Given the description of an element on the screen output the (x, y) to click on. 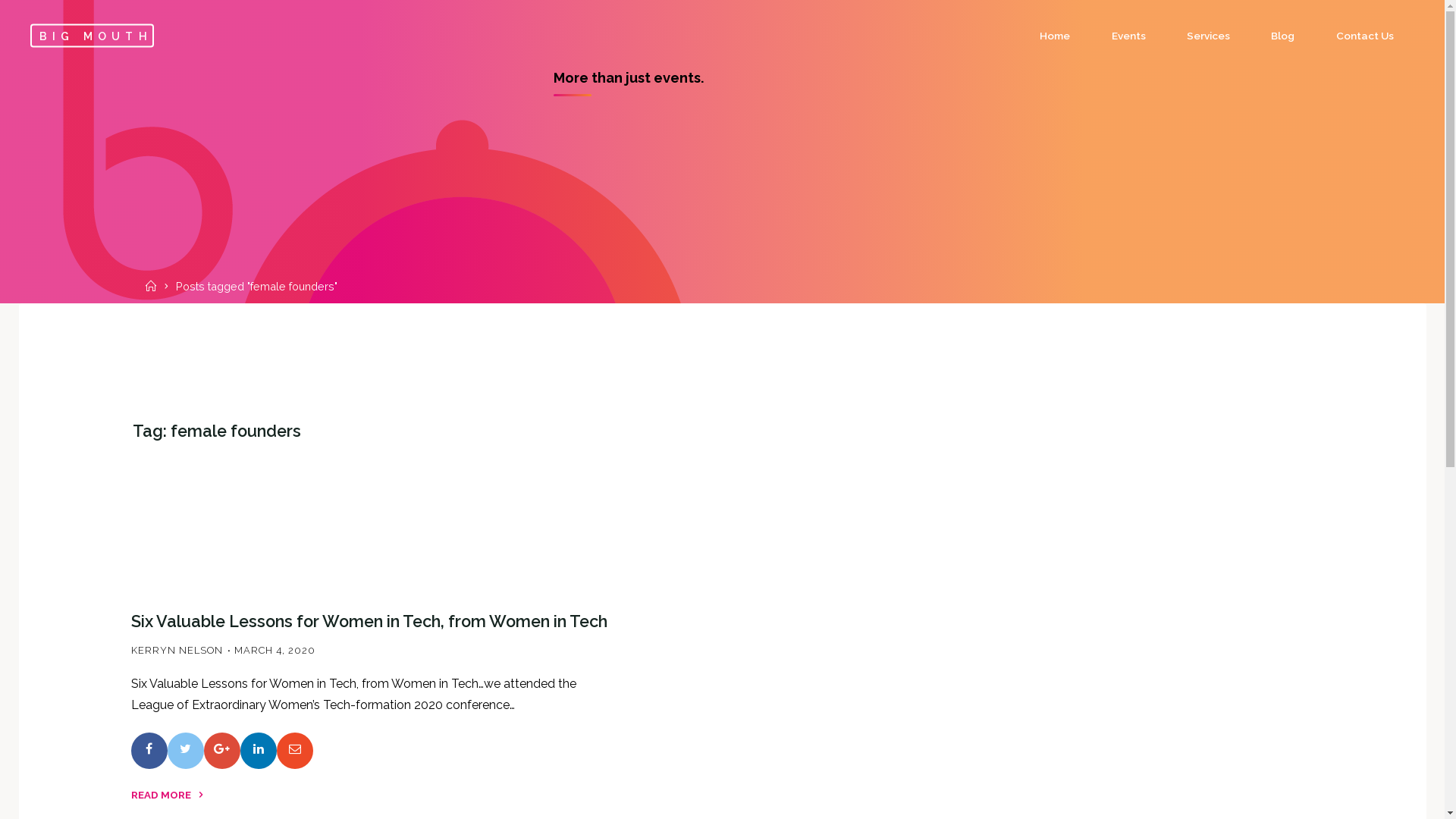
Mail Element type: hover (294, 750)
Twitter Element type: hover (184, 750)
Home Element type: text (152, 285)
Six Valuable Lessons for Women in Tech, from Women in Tech Element type: text (368, 620)
Blog Element type: text (1282, 35)
Home Element type: text (1054, 35)
Contact Us Element type: text (1364, 35)
BIG MOUTH Element type: text (91, 35)
Google+ Element type: hover (221, 750)
KERRYN NELSON Element type: text (176, 649)
Linkedin Element type: hover (257, 750)
Facebook Element type: hover (148, 750)
Events Element type: text (1127, 35)
Services Element type: text (1208, 35)
